Given the description of an element on the screen output the (x, y) to click on. 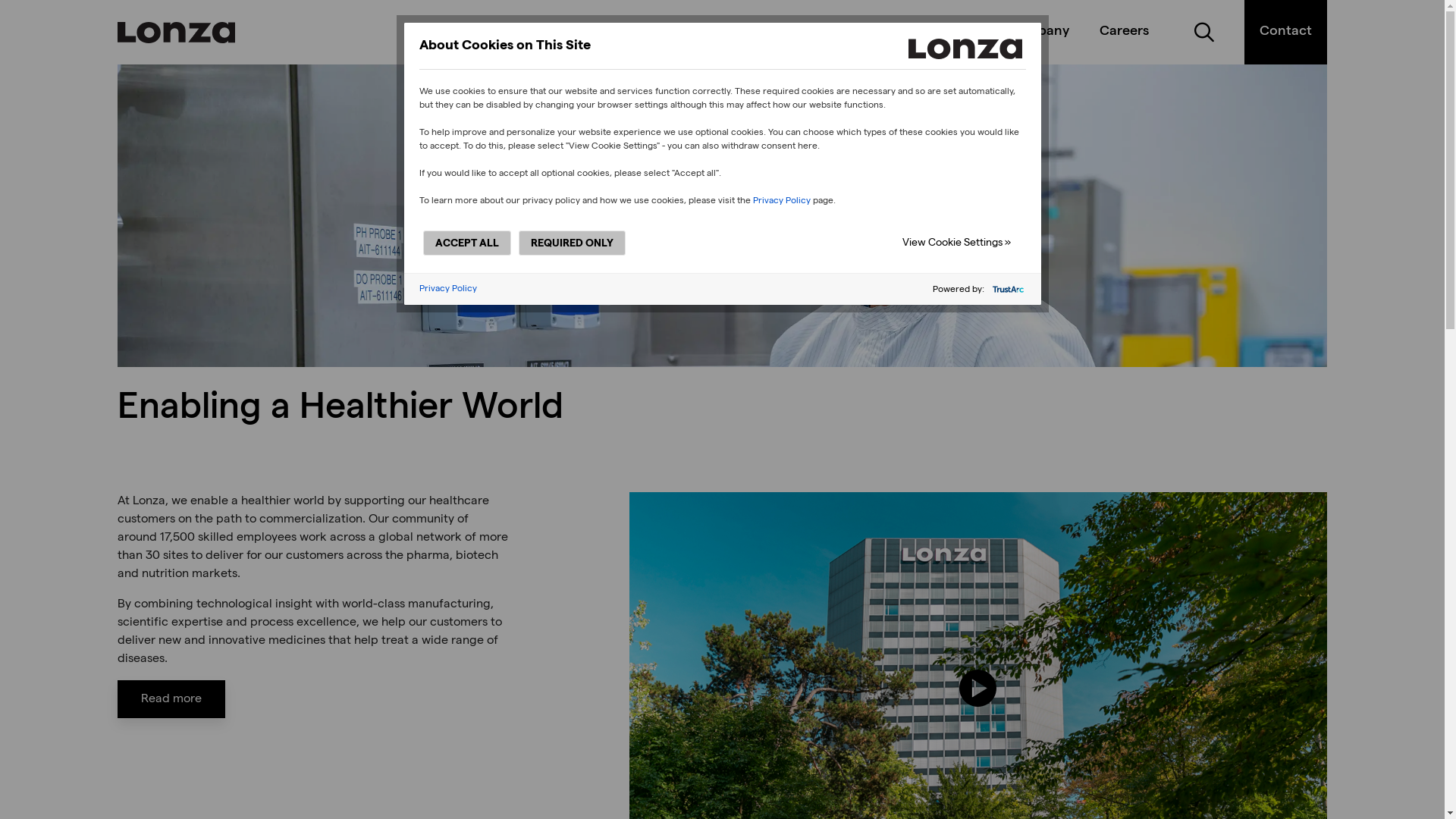
Read more Element type: text (171, 699)
Play Video Element type: text (978, 688)
TrustArc Cookie Consent Manager Element type: hover (721, 163)
Contact Element type: text (1285, 32)
